Given the description of an element on the screen output the (x, y) to click on. 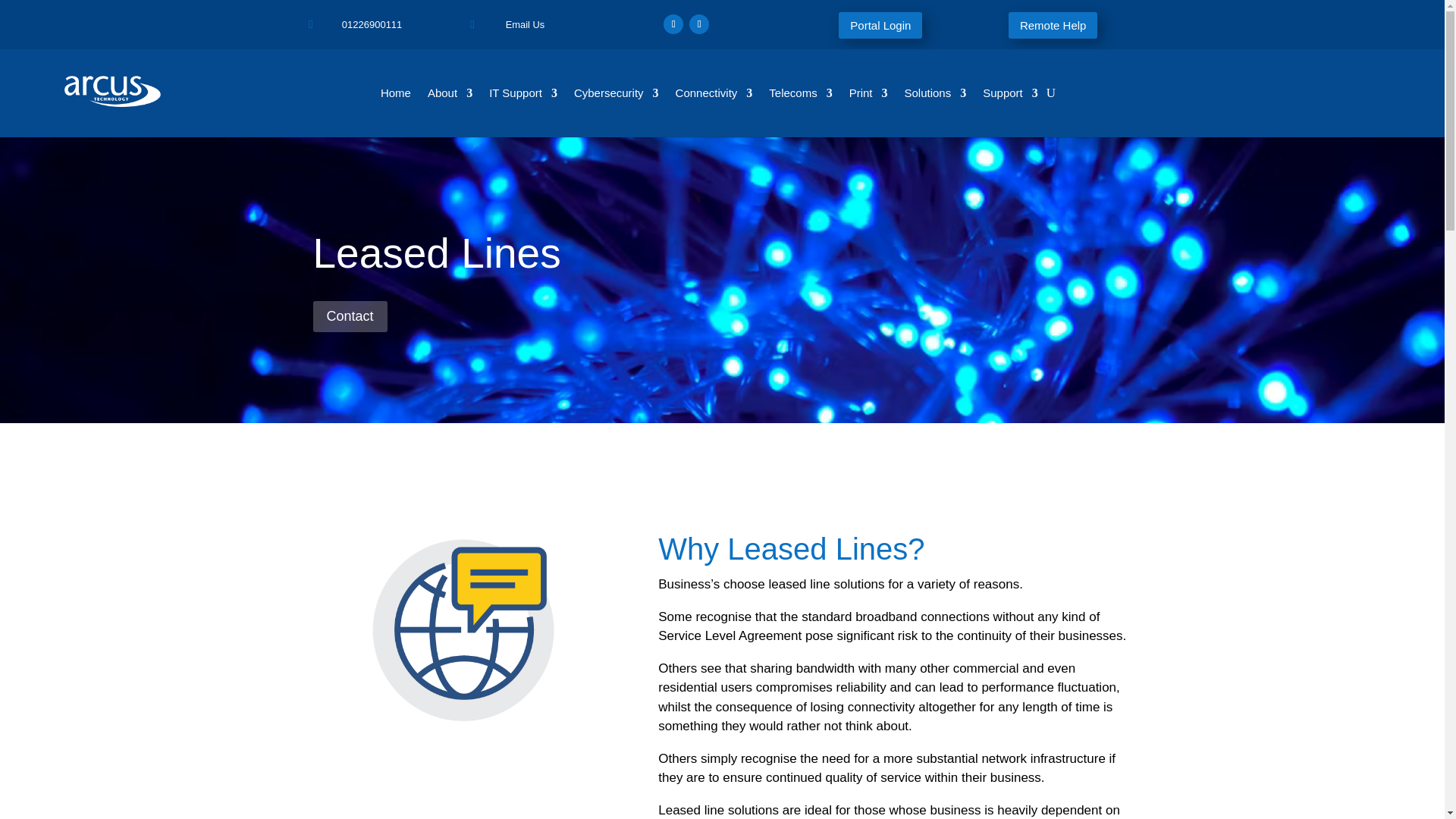
Email Us (524, 24)
Follow on X (672, 24)
IT Support (523, 95)
About (449, 95)
Connectivity (713, 95)
01226900111 (372, 24)
Follow on LinkedIn (698, 24)
Portal Login (879, 25)
Cybersecurity (616, 95)
Home (395, 95)
ARCUSWHITE-LOGO (112, 91)
Remote Help (1053, 25)
